Given the description of an element on the screen output the (x, y) to click on. 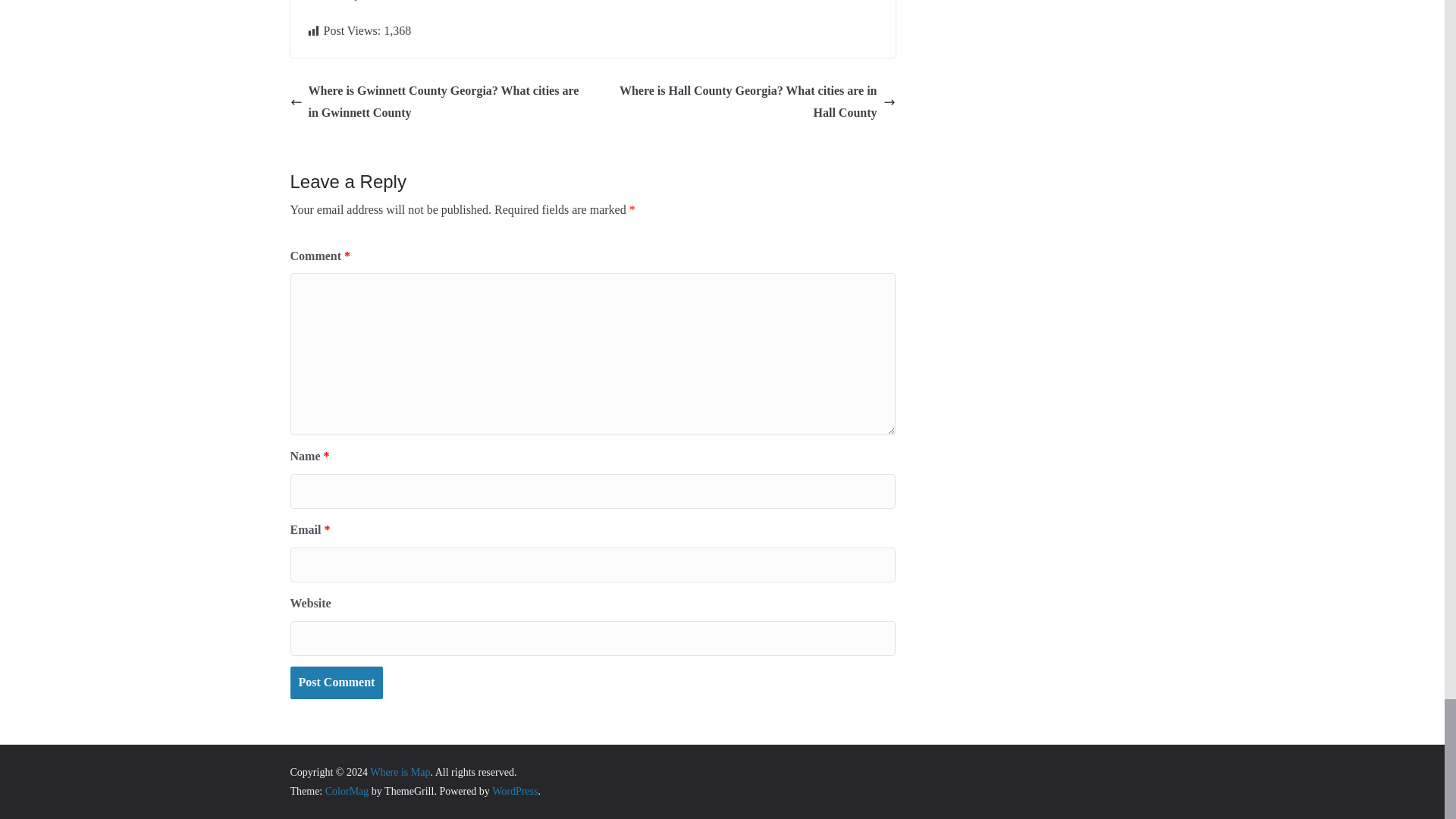
Post Comment (335, 682)
Where is Map (399, 772)
Post Comment (335, 682)
Where is Hall County Georgia? What cities are in Hall County (747, 102)
ColorMag (346, 790)
WordPress (514, 790)
